Given the description of an element on the screen output the (x, y) to click on. 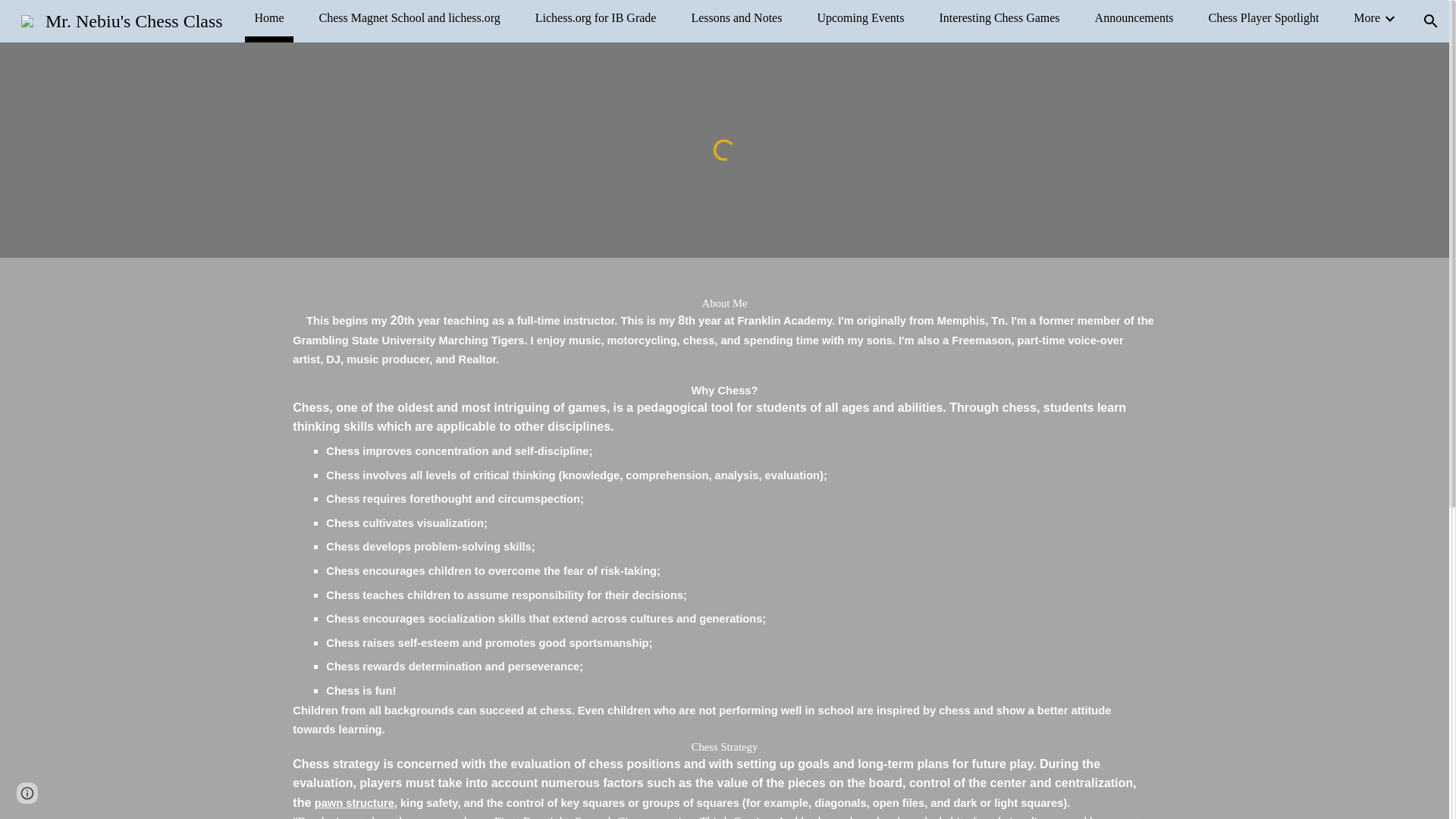
Lichess.org for IB Grade (595, 17)
More (1367, 17)
Chess Player Spotlight (1263, 17)
Announcements (1133, 17)
Chess Magnet School and lichess.org (409, 17)
Lessons and Notes (735, 17)
Custom embed (724, 149)
Chess Magnet School and lichess.org (409, 17)
Interesting Chess Games (999, 17)
Mr. Nebiu's Chess Class (121, 19)
Home (268, 17)
Upcoming Events (860, 17)
